Given the description of an element on the screen output the (x, y) to click on. 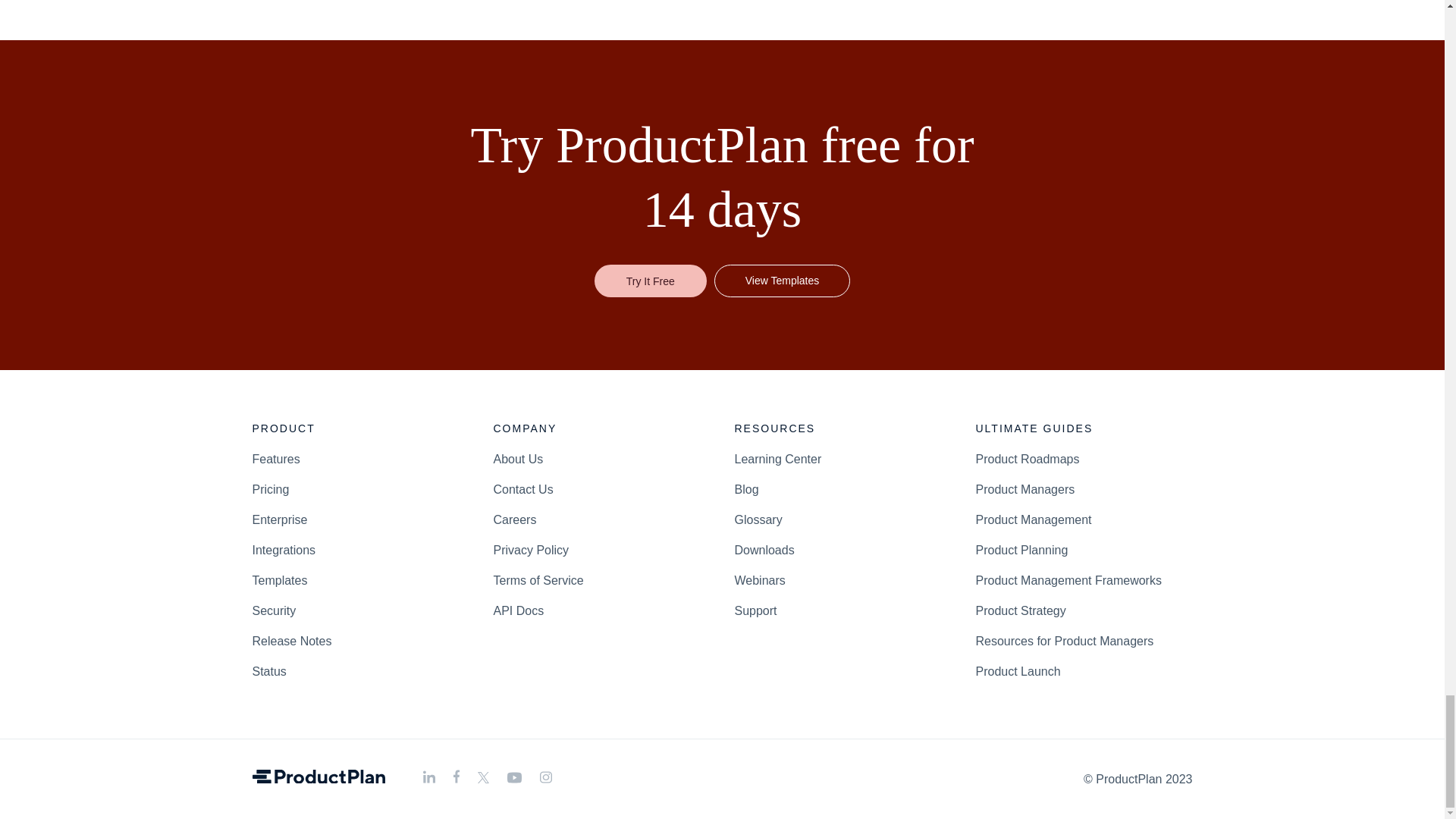
Features (275, 458)
ProductPlan (317, 776)
Try It Free (650, 280)
View Templates (782, 280)
